Given the description of an element on the screen output the (x, y) to click on. 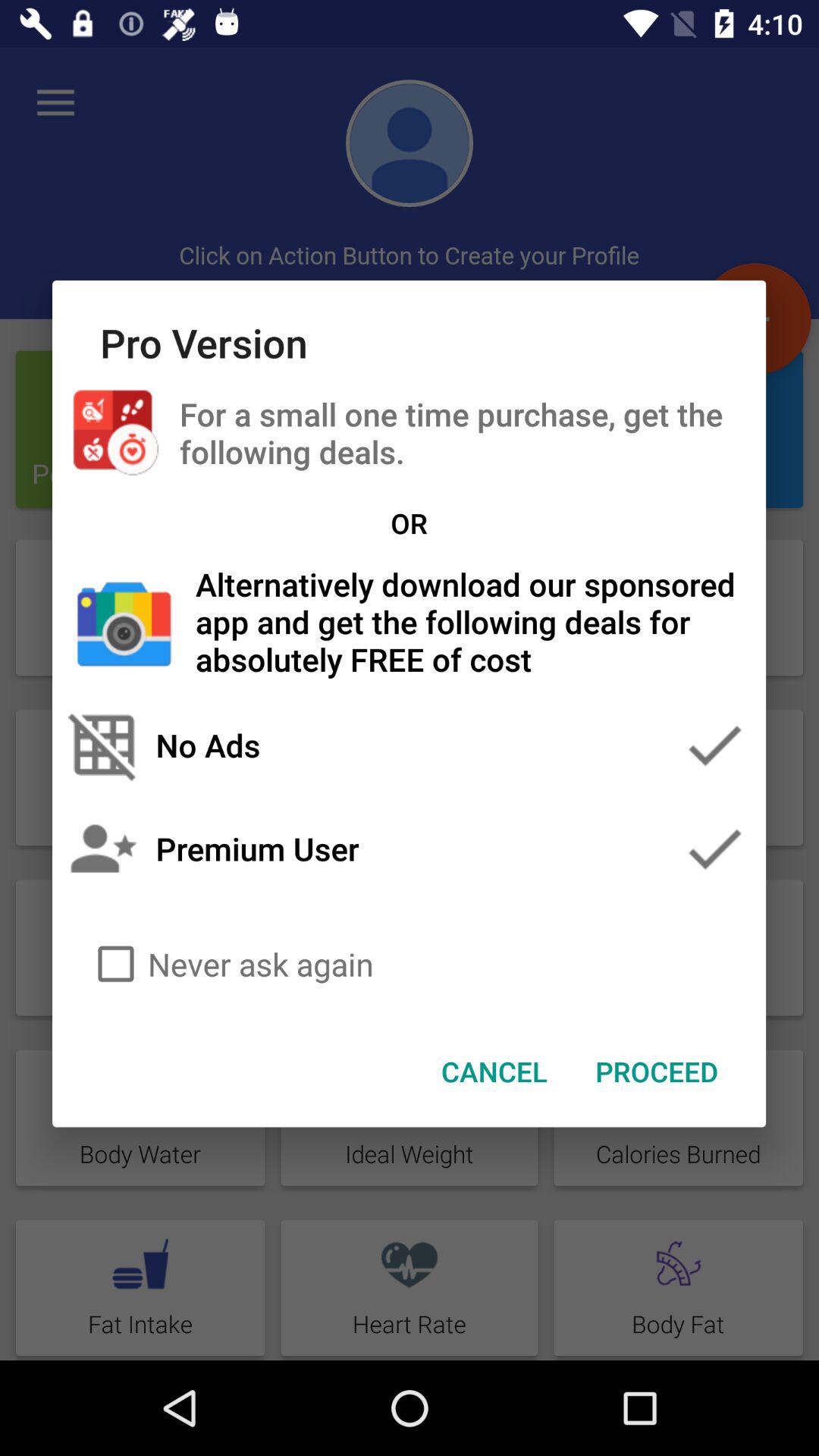
launch item to the right of the cancel item (656, 1071)
